Given the description of an element on the screen output the (x, y) to click on. 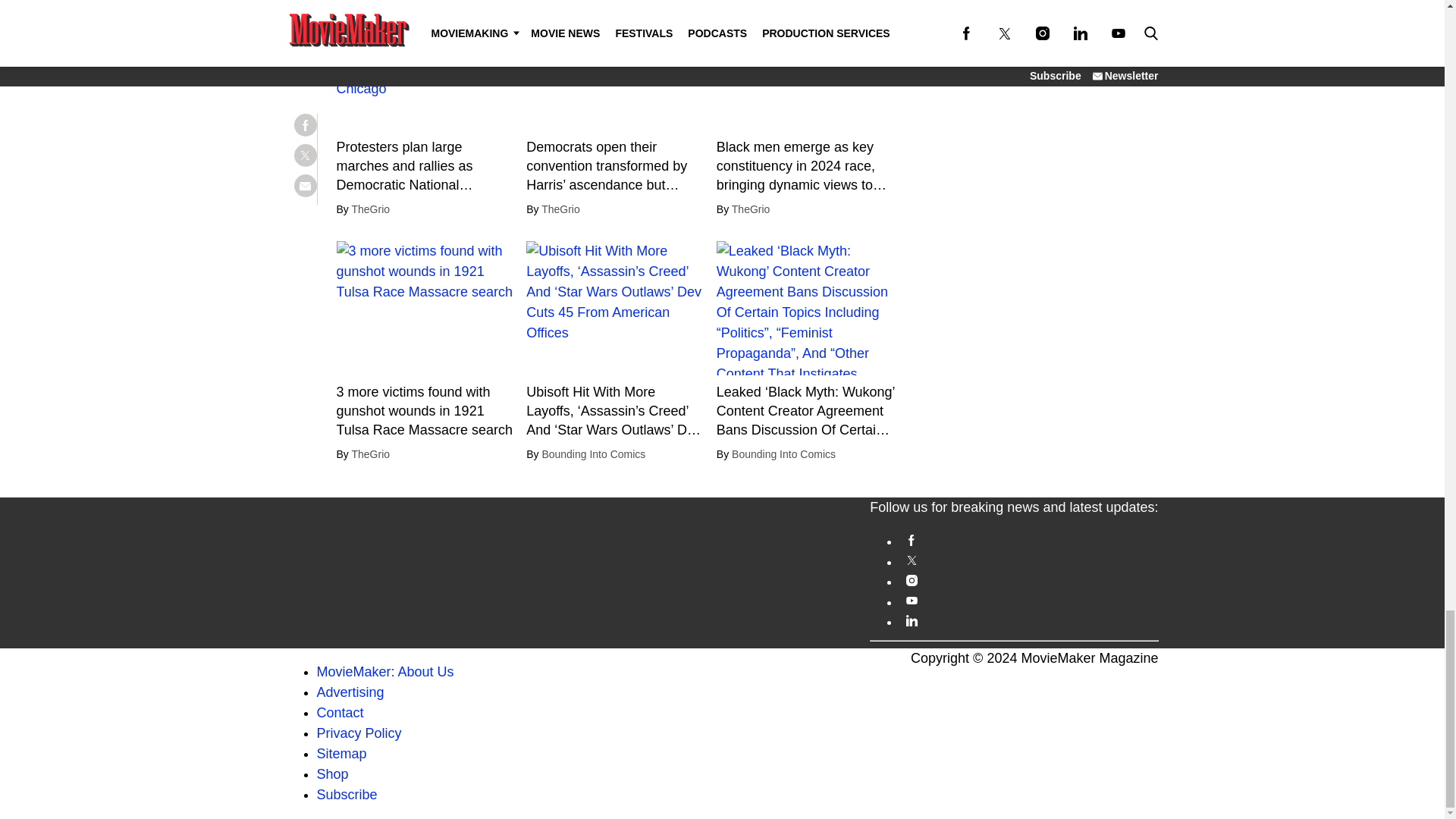
MovieMaker: About Us (385, 671)
Follow us on Instagram (1028, 580)
Contact MovieMaker Magazine (340, 712)
Subscribe to our YouTube channel (1028, 600)
Follow us on Facebook (1028, 540)
Connect with us on LinkedIn (1028, 620)
MovieMaker Magazine Shop (333, 774)
Advertising (350, 692)
Follow us on Twitter (1028, 560)
MovieMaker Magazine Privacy Policy (359, 733)
